Given the description of an element on the screen output the (x, y) to click on. 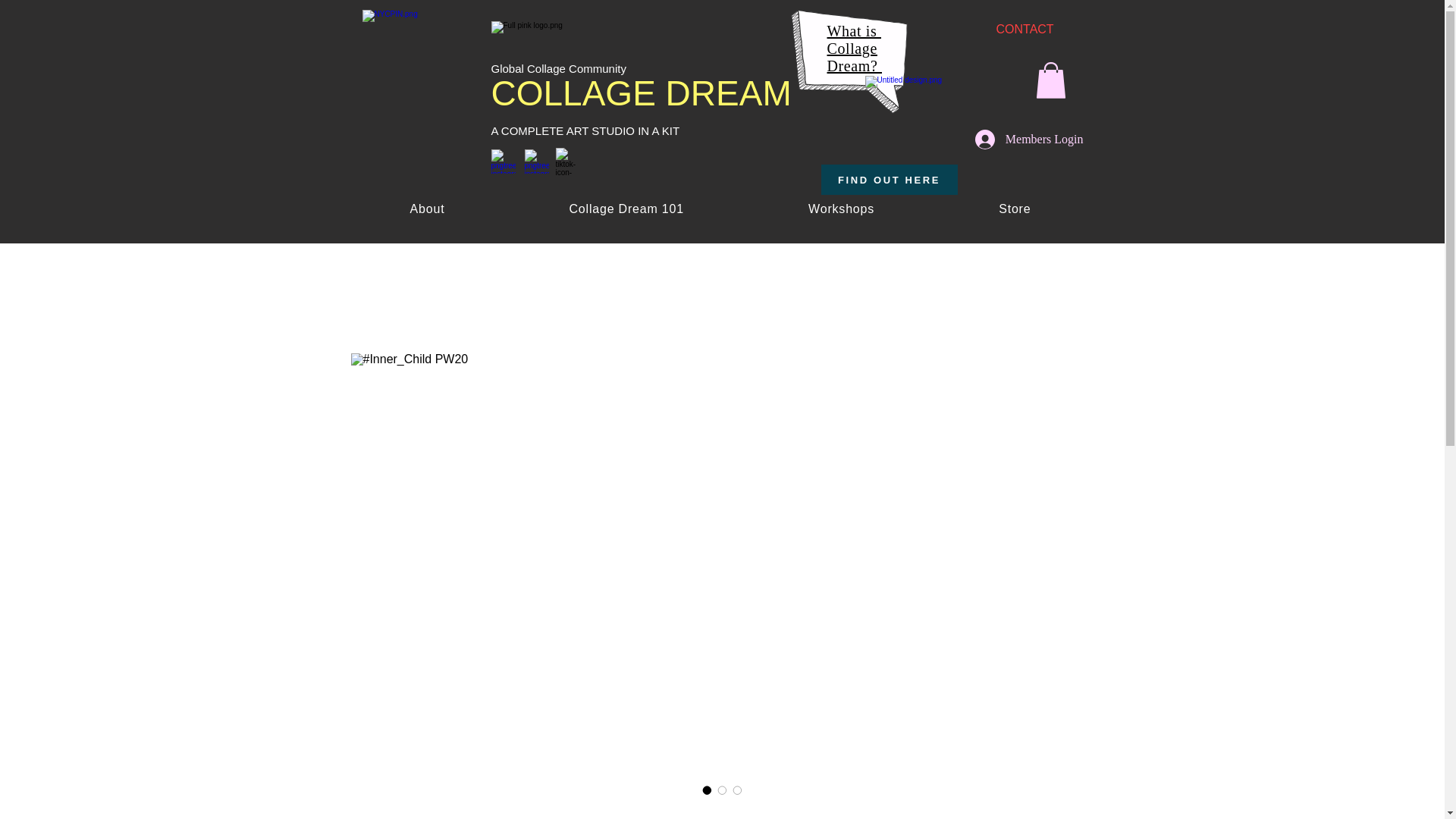
FIND OUT HERE (888, 179)
Members Login (1028, 139)
About (426, 208)
Workshops (841, 208)
Collage Dream 101 (625, 208)
Store (854, 48)
CONTACT (1014, 208)
